Given the description of an element on the screen output the (x, y) to click on. 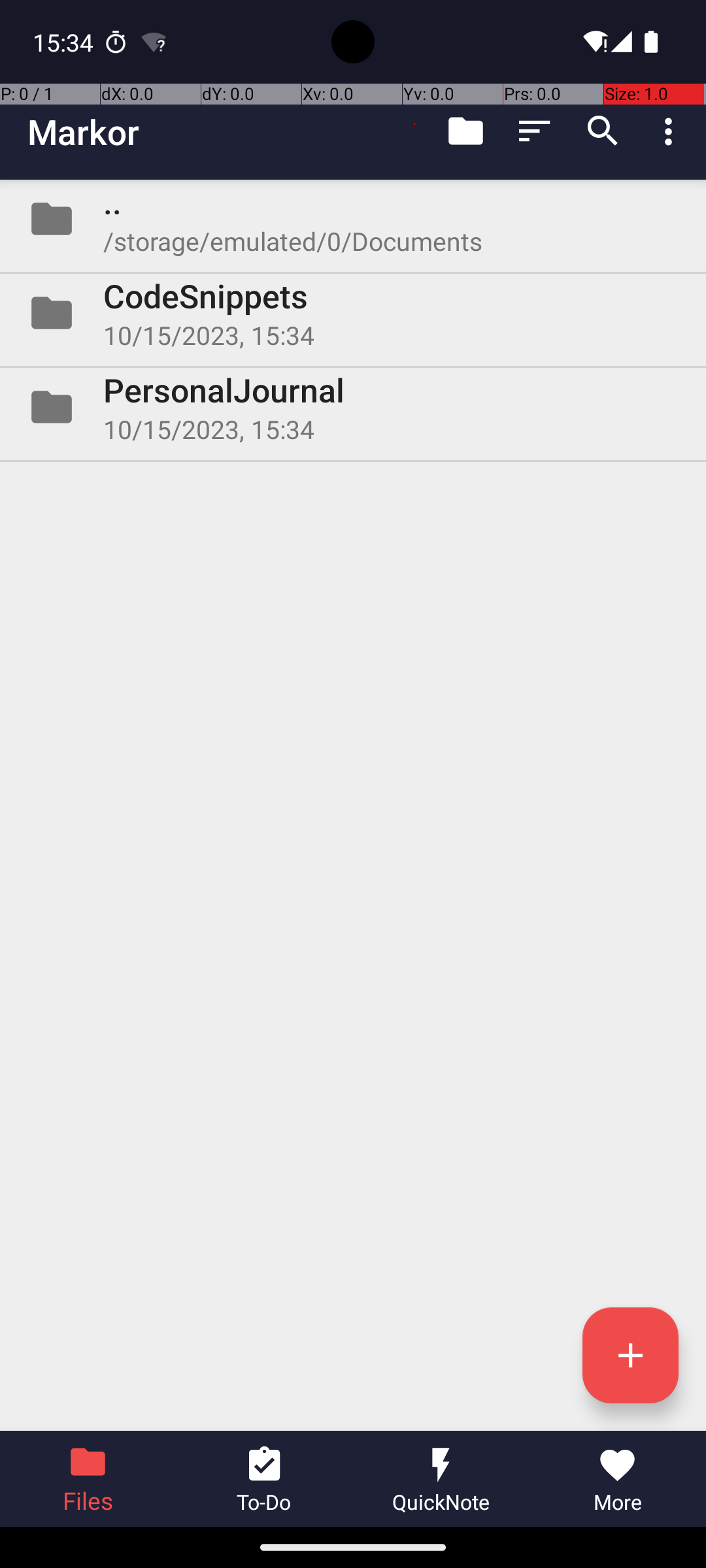
Folder CodeSnippets  Element type: android.widget.LinearLayout (353, 312)
Folder PersonalJournal  Element type: android.widget.LinearLayout (353, 406)
